Given the description of an element on the screen output the (x, y) to click on. 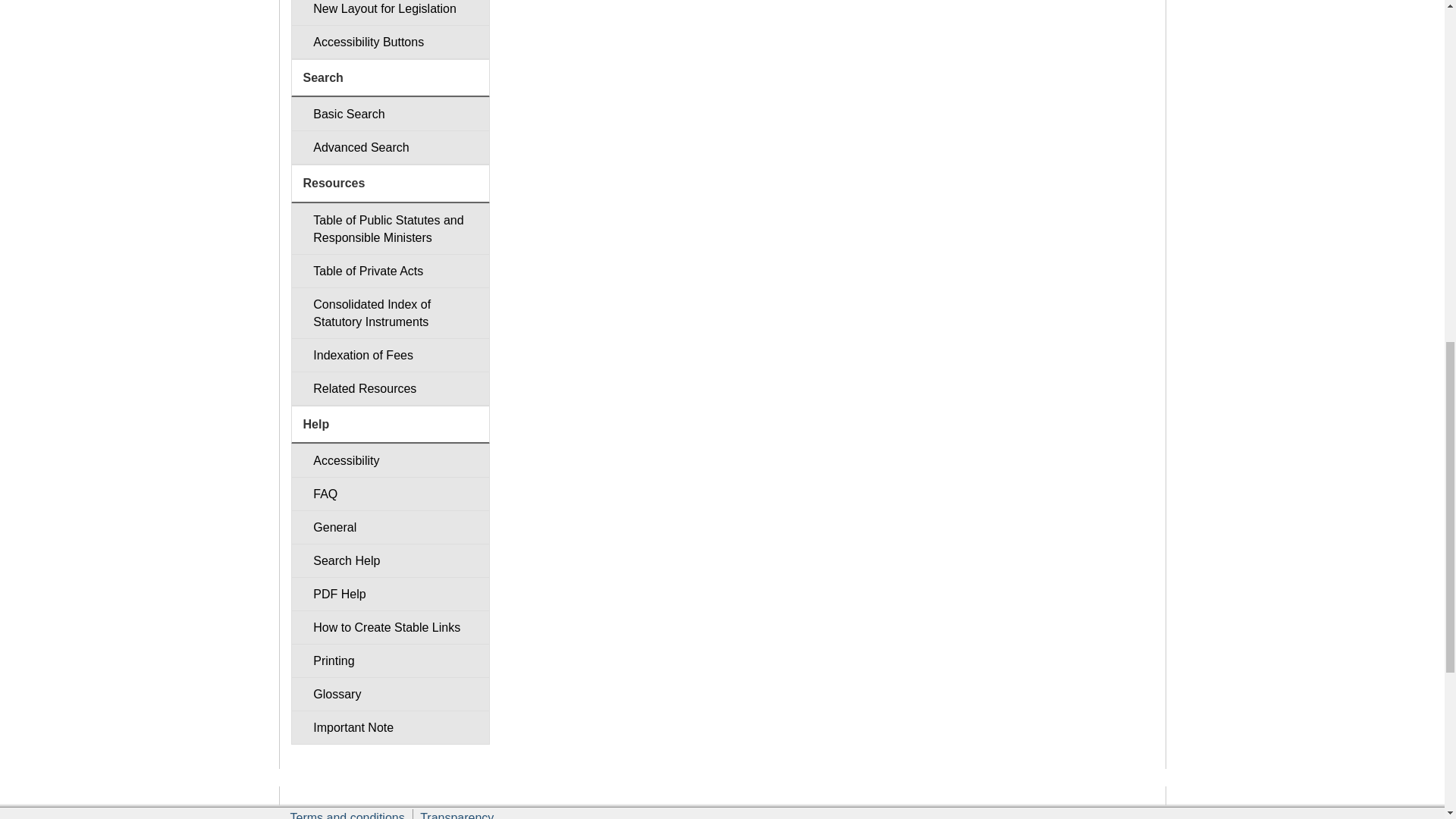
Search - Justice Laws Website (390, 114)
Table of Private Acts (390, 270)
Advanced Search (390, 147)
Advanced Search - Justice Laws Website (390, 147)
Accessibility Help (390, 460)
New Layout for Legislation (390, 12)
Consolidated Index of Statutory Instruments (390, 313)
Related Resources (390, 388)
Printing Help (390, 660)
General Help (390, 527)
Basic Search (390, 114)
Table of Public Statutes and Responsible Ministers (390, 228)
Frequently Asked Questions (390, 493)
Accessibility Buttons (390, 41)
